Given the description of an element on the screen output the (x, y) to click on. 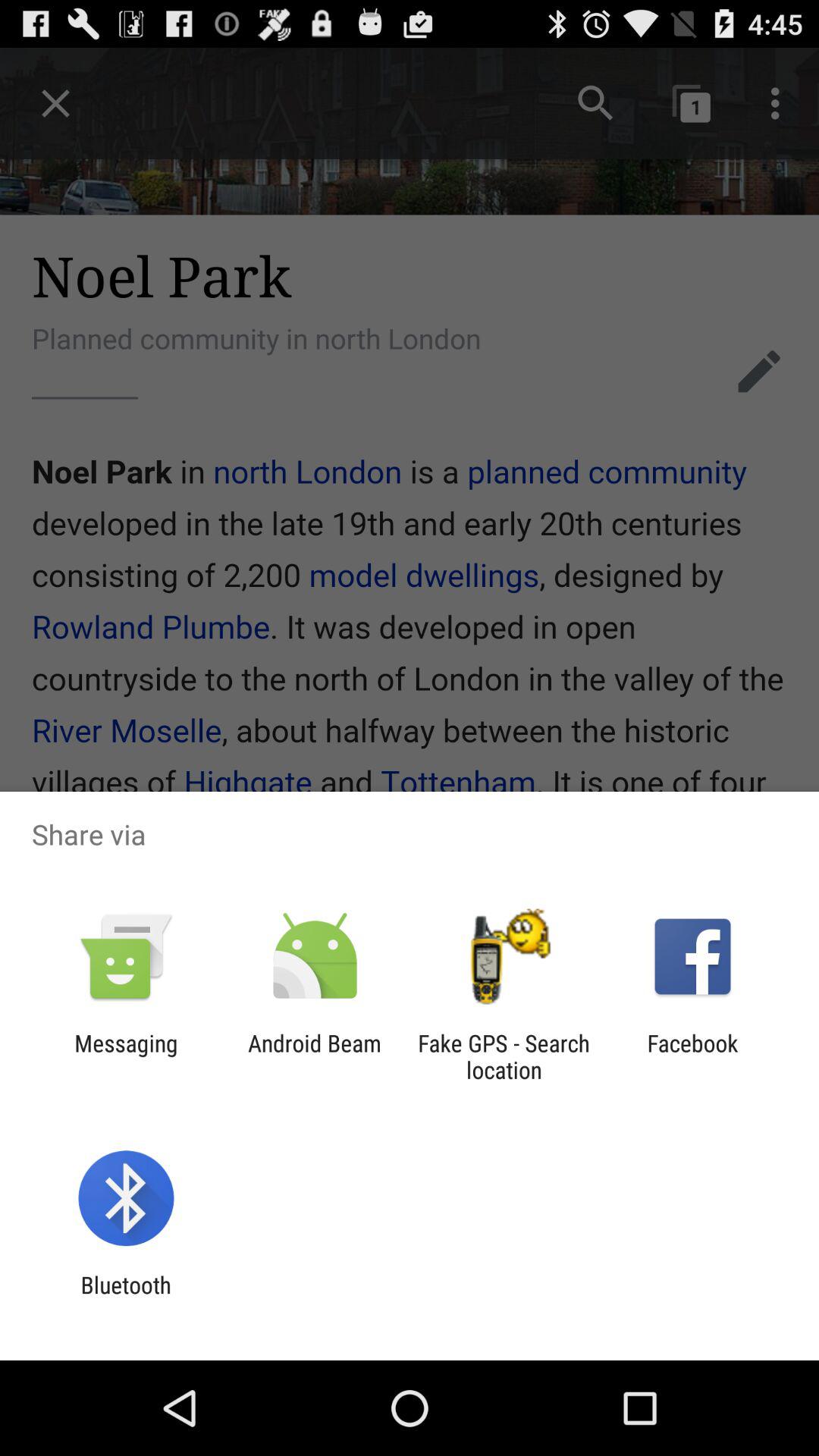
turn off bluetooth item (125, 1298)
